Given the description of an element on the screen output the (x, y) to click on. 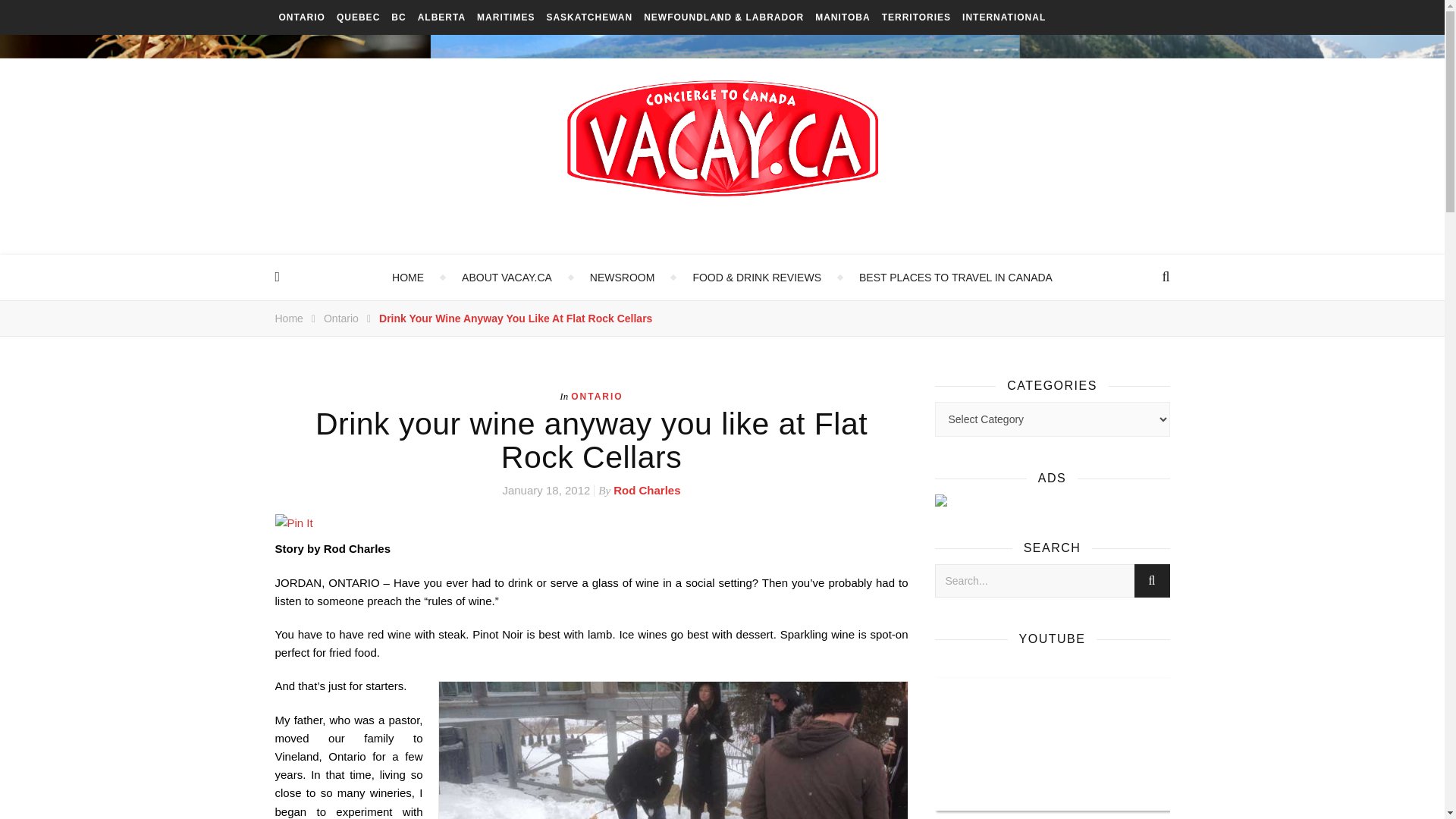
Vacay.ca (722, 138)
QUEBEC (358, 17)
FlatRock (672, 750)
Pin It (591, 523)
Home (288, 318)
Ontario (340, 318)
ONTARIO (302, 17)
Manitoba (841, 17)
Travel Experts (622, 277)
Drink your wine anyway you like at Flat Rock Cellars (515, 318)
